Given the description of an element on the screen output the (x, y) to click on. 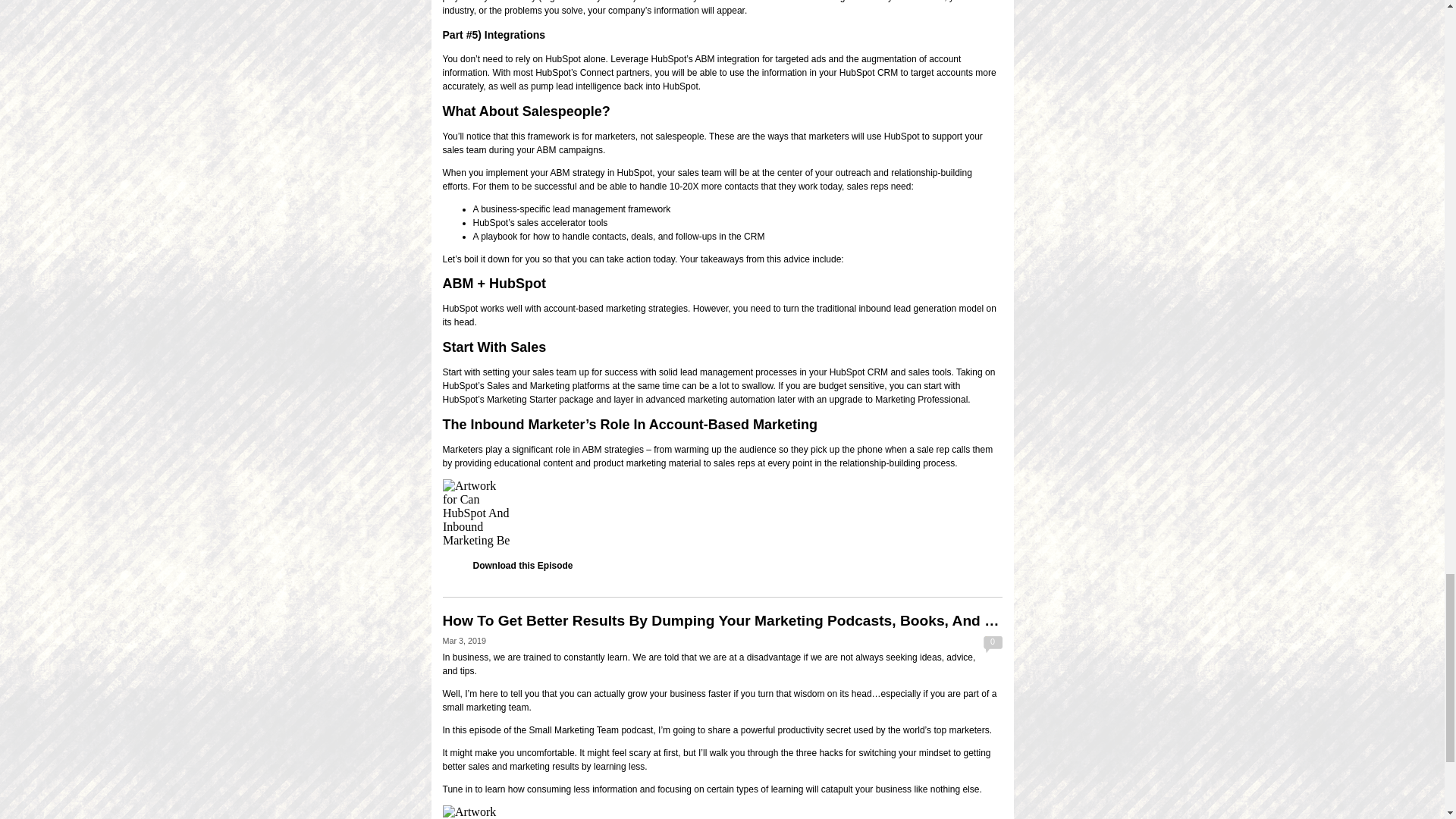
Libsyn Player (722, 812)
Libsyn Player (722, 513)
